Given the description of an element on the screen output the (x, y) to click on. 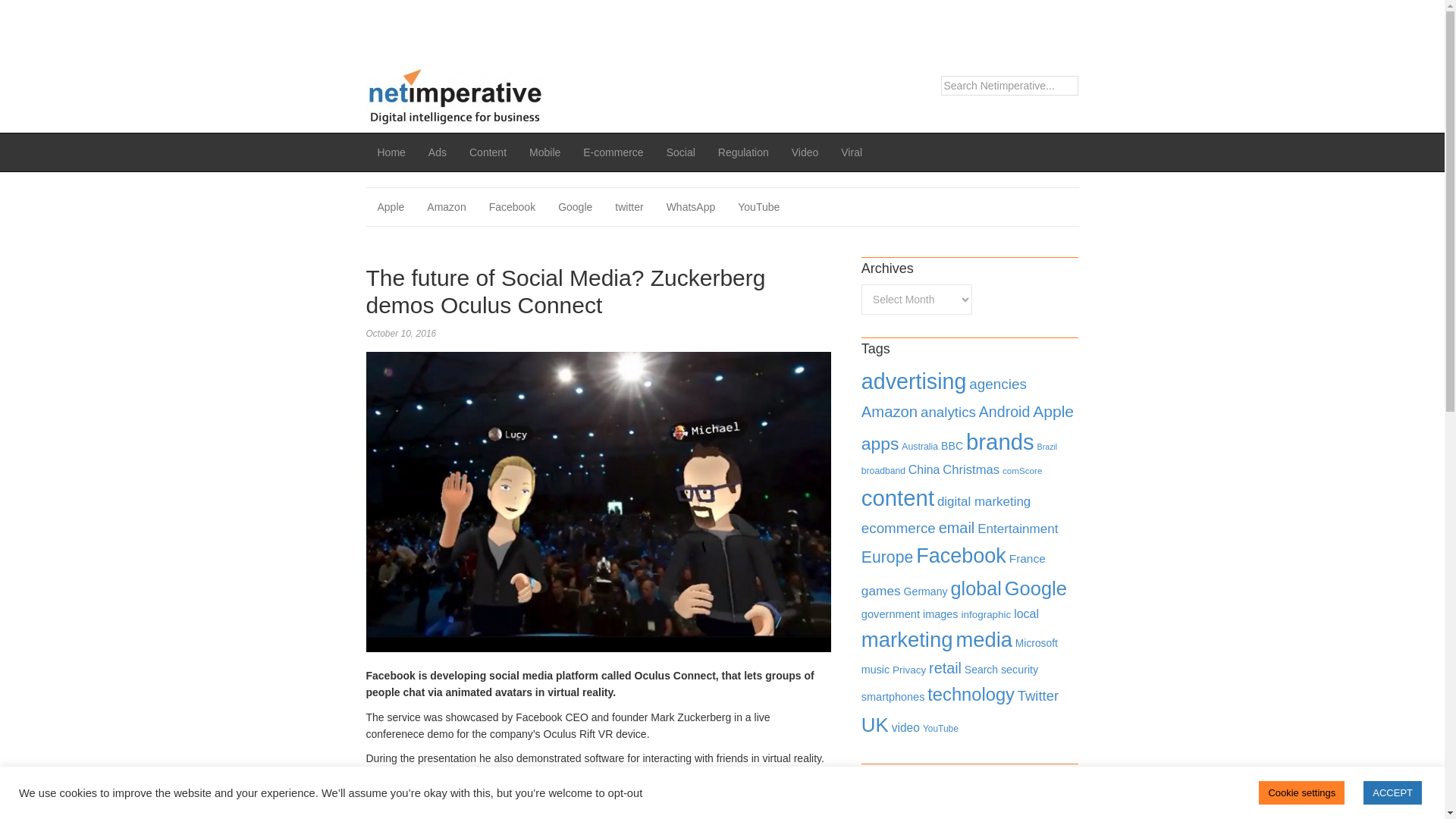
brands (999, 441)
BBC (951, 445)
advertising (913, 381)
Facebook (512, 207)
apps (880, 443)
Australia (919, 446)
Video (804, 152)
WhatsApp (690, 207)
Google (575, 207)
Brazil (1047, 446)
